Given the description of an element on the screen output the (x, y) to click on. 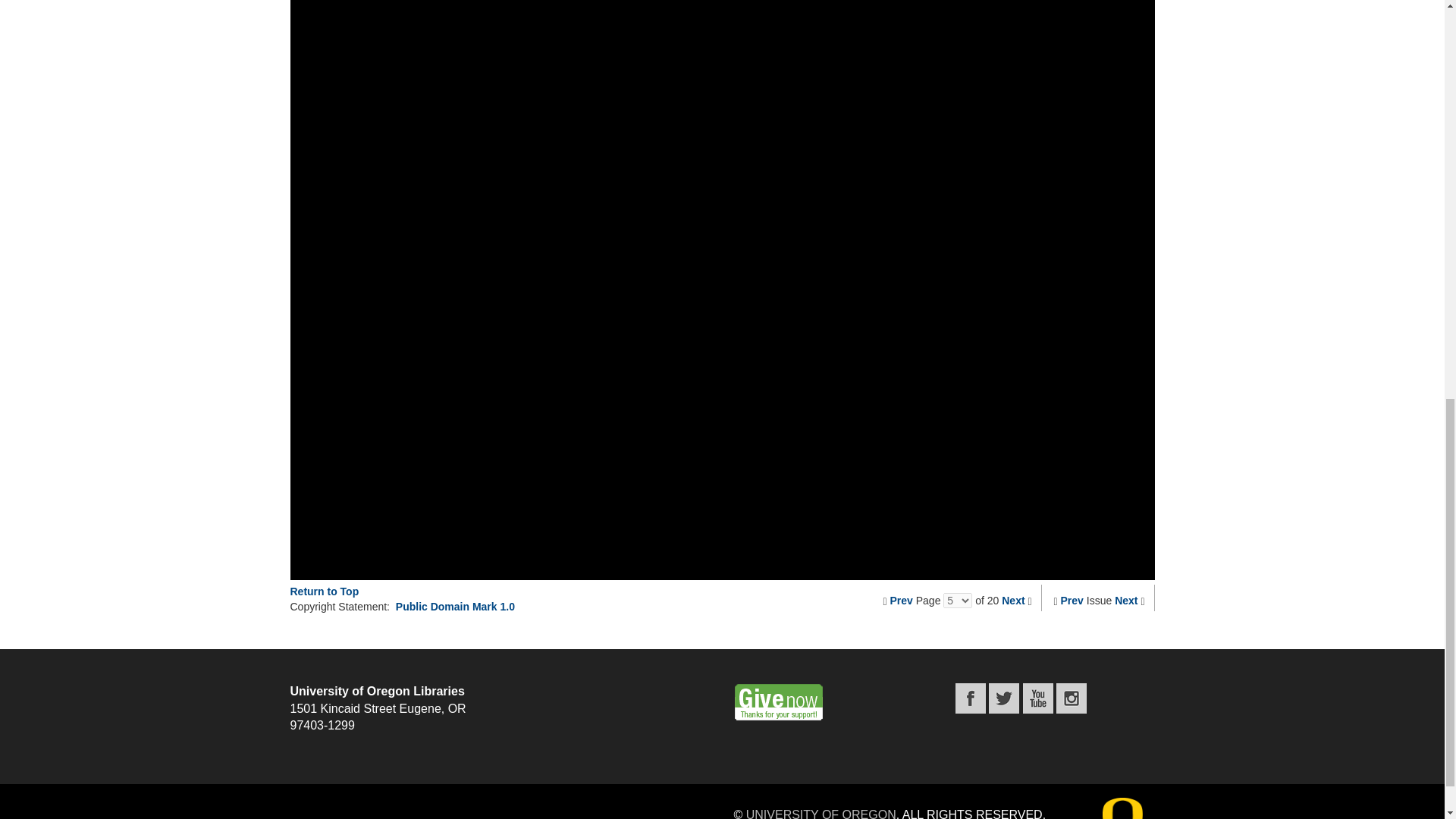
Return to Top (323, 591)
Public Domain Mark 1.0 (455, 606)
Prev (900, 600)
Prev (1072, 600)
Next (1126, 600)
Next (1013, 600)
